Given the description of an element on the screen output the (x, y) to click on. 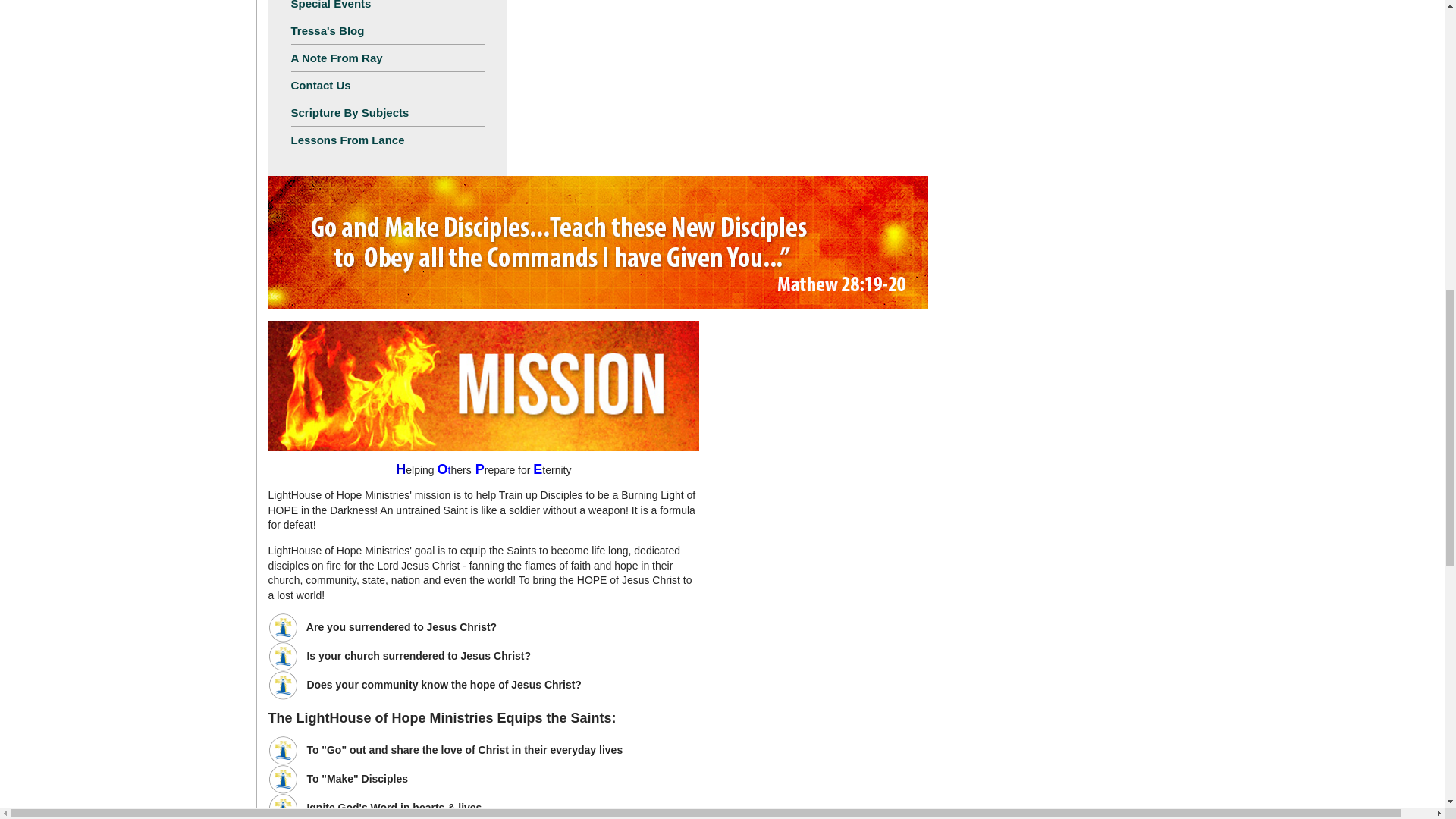
Tressa's Blog (387, 30)
Scripture By Subjects (387, 112)
Contact Us (387, 85)
Lessons From Lance (387, 139)
A Note From Ray (387, 58)
Special Events (387, 8)
Lessons From Lance (387, 139)
Tressa's Blog (387, 30)
Scripture By Subjects (387, 112)
A Note From Ray (387, 58)
Contact Us (387, 85)
Special Events (387, 8)
